Given the description of an element on the screen output the (x, y) to click on. 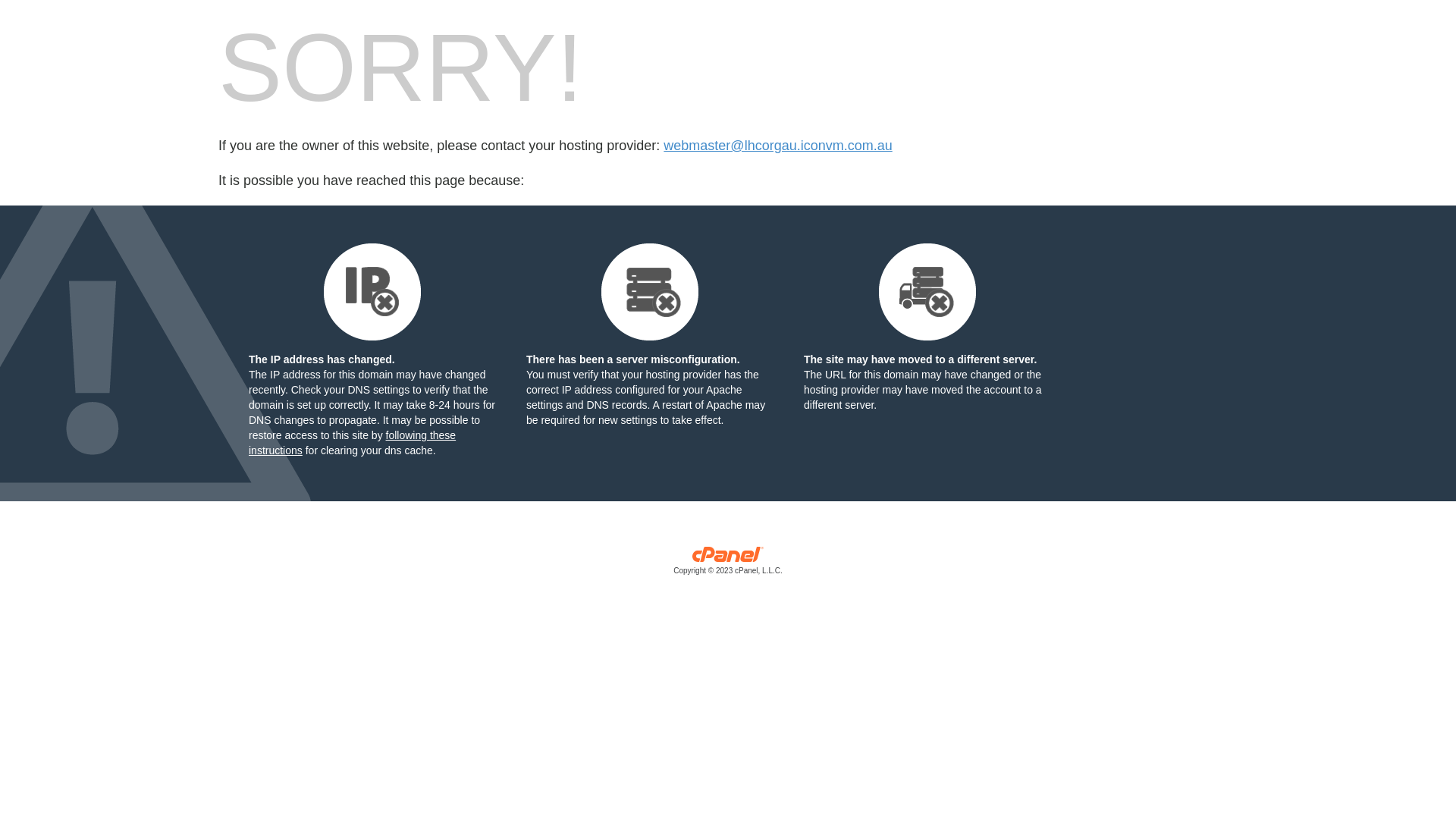
following these instructions Element type: text (351, 442)
webmaster@lhcorgau.iconvm.com.au Element type: text (777, 145)
